Given the description of an element on the screen output the (x, y) to click on. 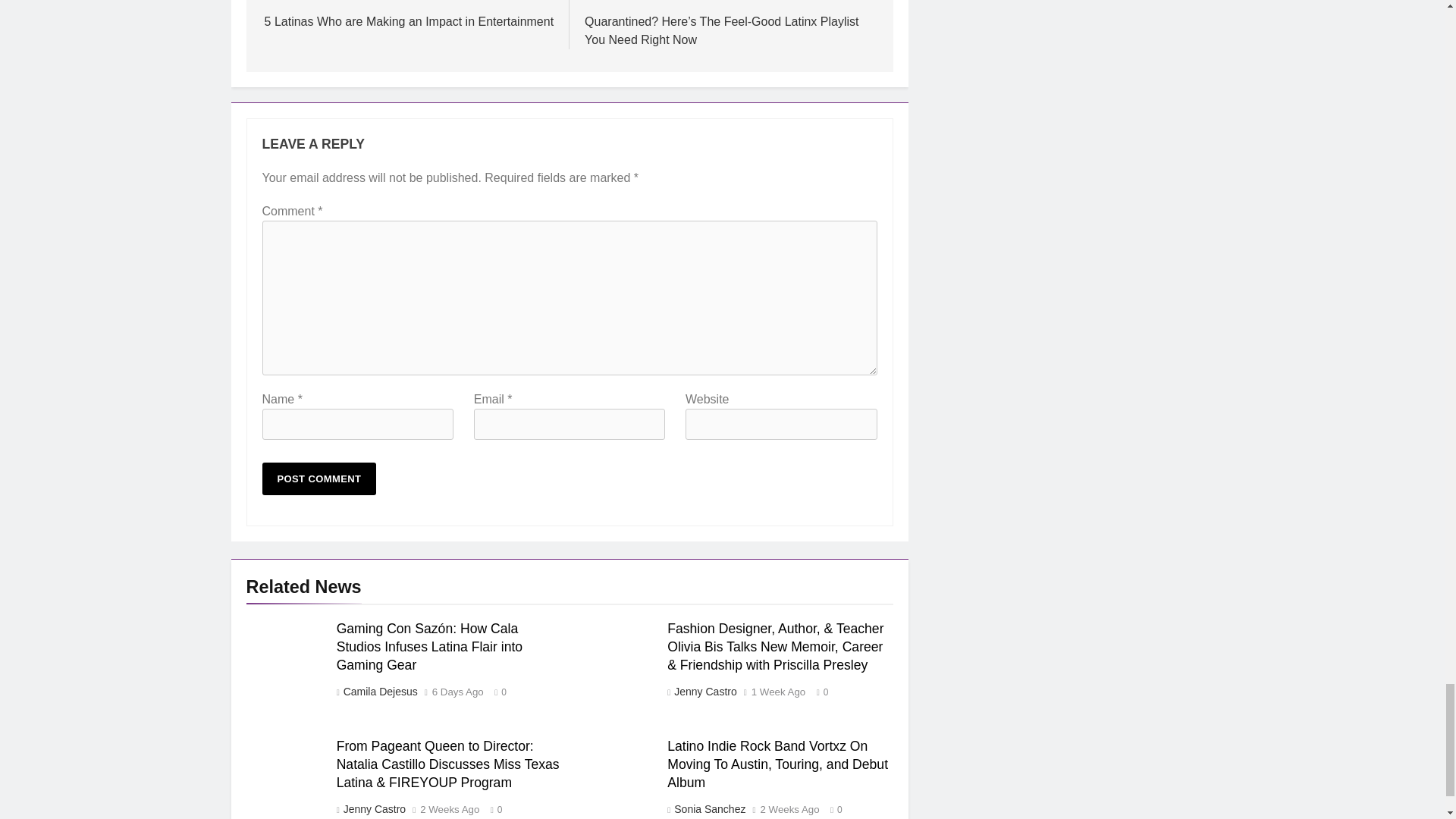
Post Comment (319, 478)
